Given the description of an element on the screen output the (x, y) to click on. 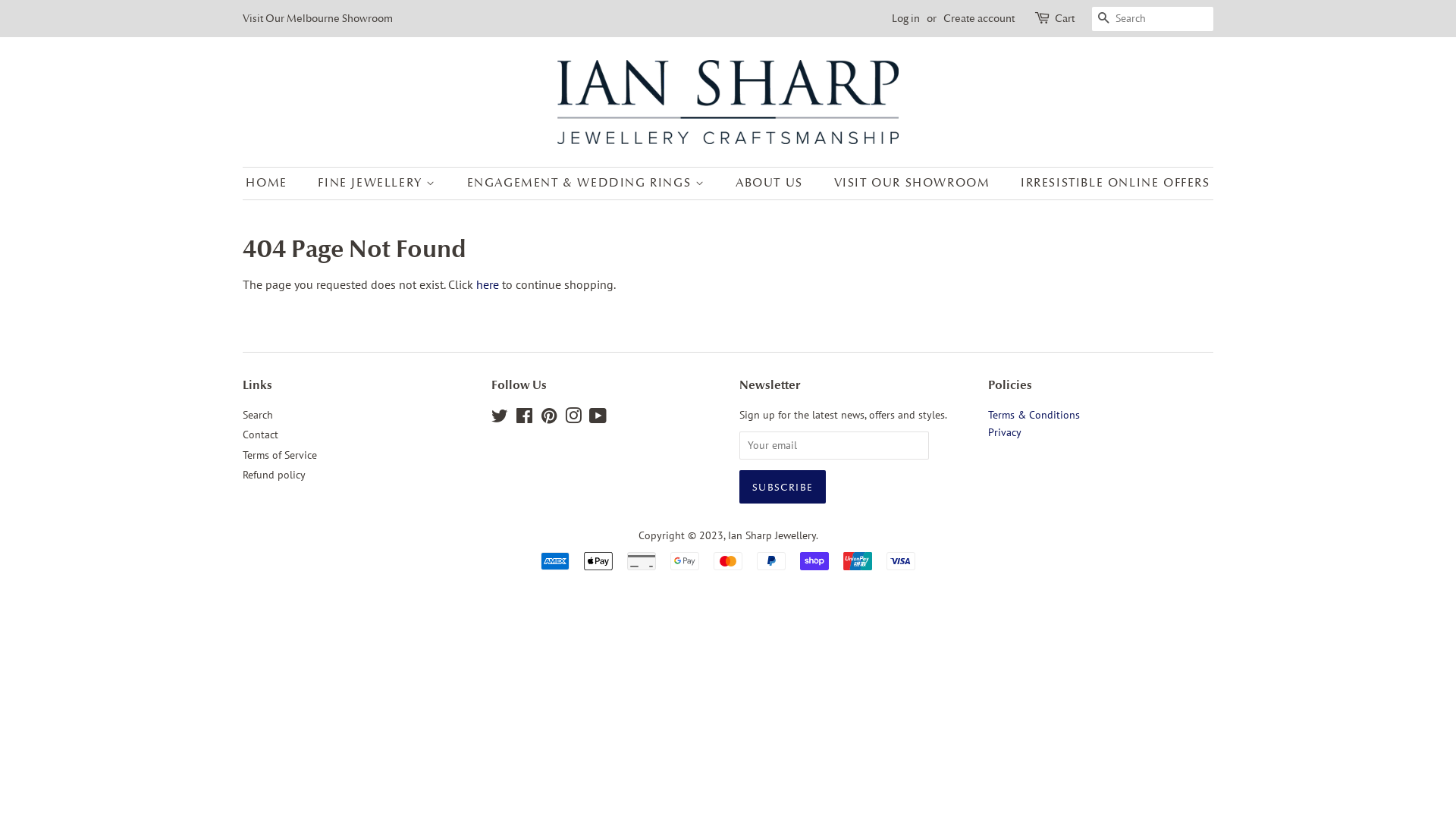
VISIT OUR SHOWROOM Element type: text (913, 182)
Subscribe Element type: text (782, 486)
Terms of Service Element type: text (279, 454)
Cart Element type: text (1064, 18)
YouTube Element type: text (596, 418)
here Element type: text (487, 283)
ENGAGEMENT & WEDDING RINGS Element type: text (587, 182)
Twitter Element type: text (499, 418)
ABOUT US Element type: text (771, 182)
Contact Element type: text (260, 434)
Ian Sharp Jewellery Element type: text (771, 535)
Terms & Conditions Element type: text (1033, 414)
Facebook Element type: text (524, 418)
FINE JEWELLERY Element type: text (378, 182)
Visit Our Melbourne Showroom Element type: text (317, 18)
Log in Element type: text (905, 18)
Instagram Element type: text (572, 418)
Pinterest Element type: text (547, 418)
Privacy Element type: text (1003, 432)
IRRESISTIBLE ONLINE OFFERS Element type: text (1109, 182)
SEARCH Element type: text (1104, 18)
Create account Element type: text (978, 18)
HOME Element type: text (273, 182)
Search Element type: text (257, 414)
Refund policy Element type: text (273, 474)
